Given the description of an element on the screen output the (x, y) to click on. 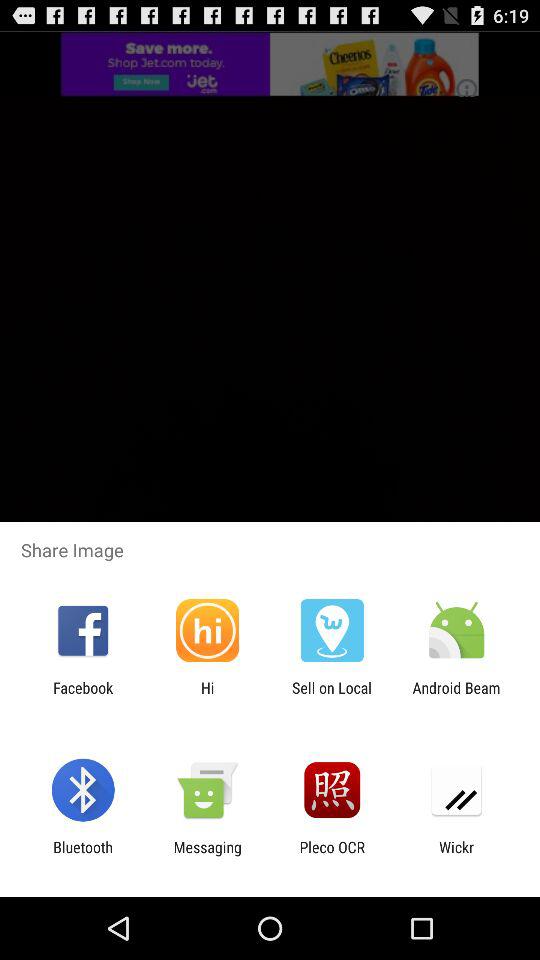
choose the icon next to facebook (207, 696)
